Given the description of an element on the screen output the (x, y) to click on. 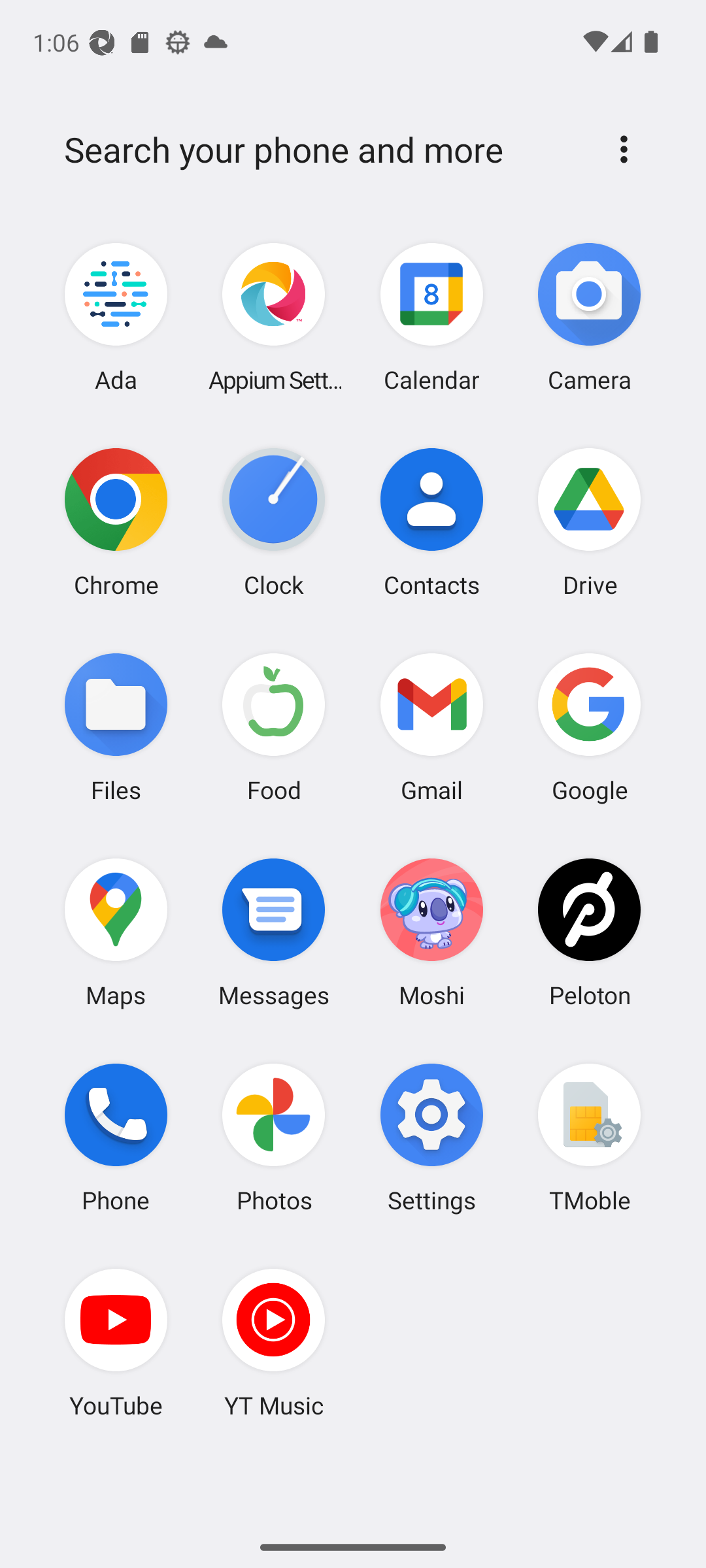
Search your phone and more (321, 149)
Preferences (623, 149)
Ada (115, 317)
Appium Settings (273, 317)
Calendar (431, 317)
Camera (589, 317)
Chrome (115, 522)
Clock (273, 522)
Contacts (431, 522)
Drive (589, 522)
Files (115, 726)
Food (273, 726)
Gmail (431, 726)
Google (589, 726)
Maps (115, 931)
Messages (273, 931)
Moshi (431, 931)
Peloton (589, 931)
Phone (115, 1137)
Photos (273, 1137)
Settings (431, 1137)
TMoble (589, 1137)
YouTube (115, 1342)
YT Music (273, 1342)
